Given the description of an element on the screen output the (x, y) to click on. 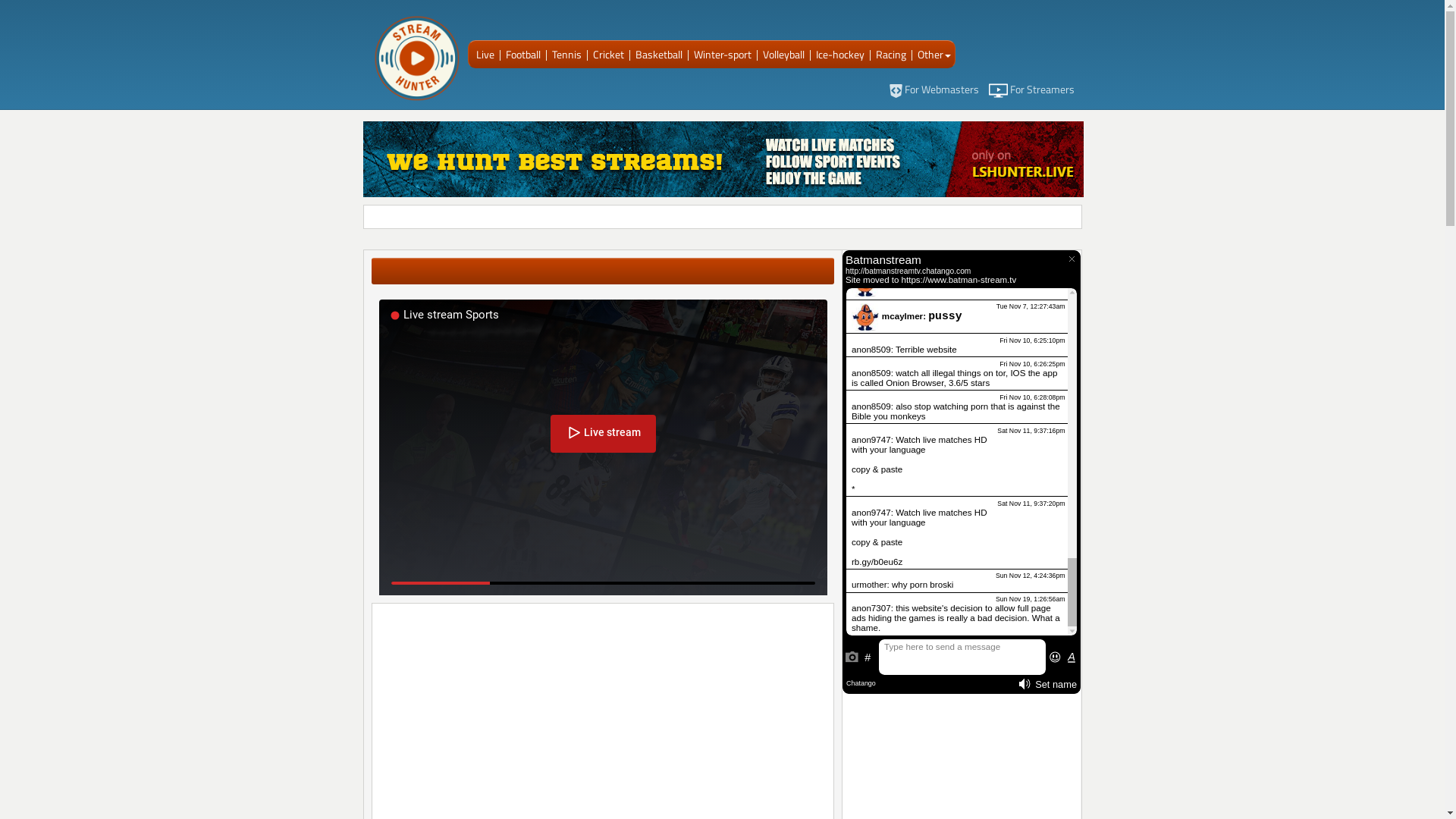
Football Element type: text (520, 54)
For Streamers Element type: text (1031, 89)
Racing Element type: text (888, 54)
Cricket Element type: text (606, 54)
For Webmasters Element type: text (933, 89)
Basketball Element type: text (656, 54)
Homepage Element type: hover (416, 57)
Winter-sport Element type: text (719, 54)
Ice-hockey Element type: text (838, 54)
Volleyball Element type: text (781, 54)
Live Element type: text (483, 54)
Tennis Element type: text (564, 54)
Other Element type: text (932, 54)
